Given the description of an element on the screen output the (x, y) to click on. 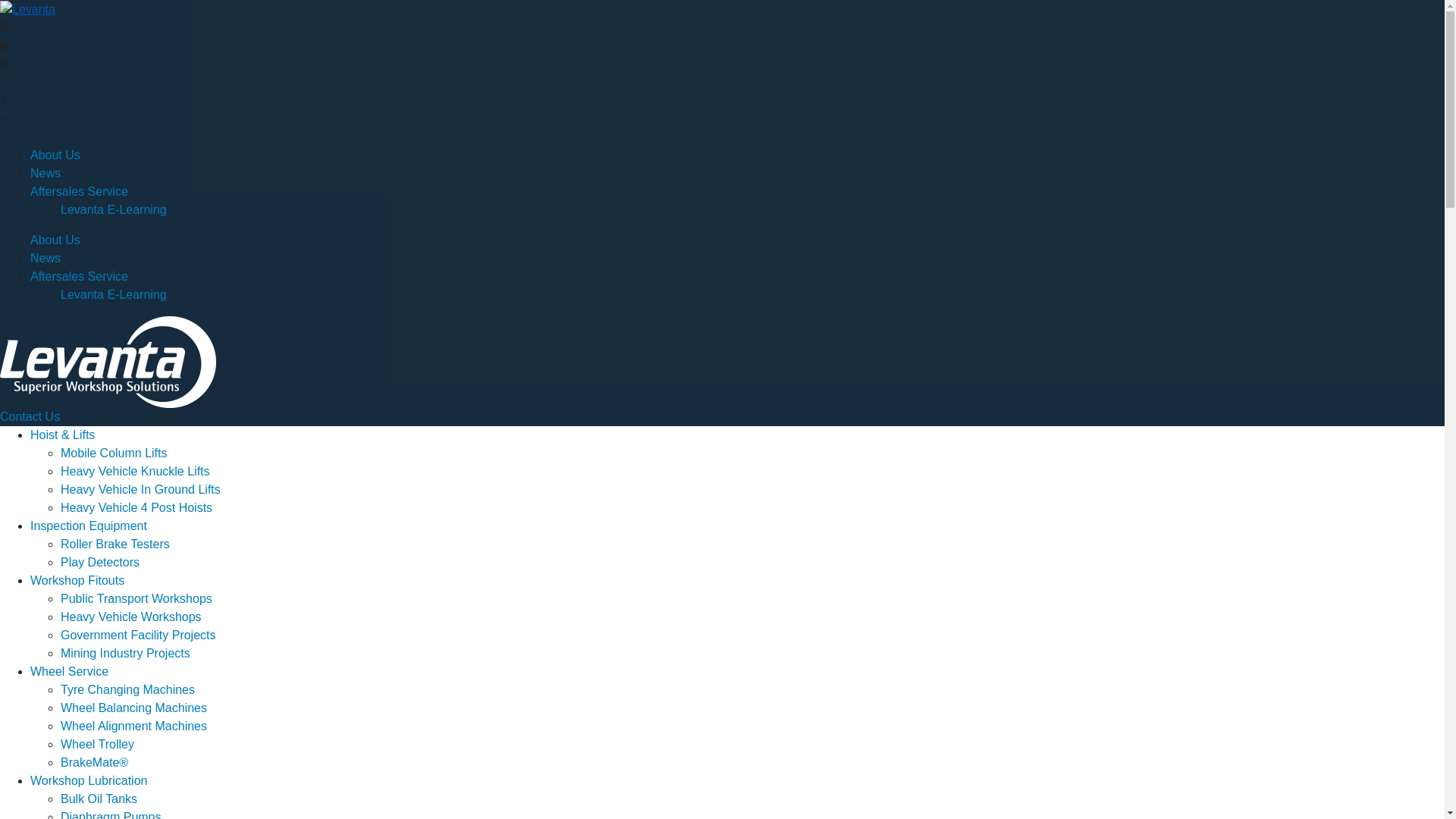
Hoist & Lifts Element type: text (62, 434)
About Us Element type: text (55, 154)
Levanta E-Learning Element type: text (113, 209)
Workshop Fitouts Element type: text (77, 580)
About Us Element type: text (55, 239)
Heavy Vehicle Knuckle Lifts Element type: text (135, 470)
Heavy Vehicle 4 Post Hoists Element type: text (136, 507)
Public Transport Workshops Element type: text (136, 598)
Aftersales Service Element type: text (79, 191)
Wheel Balancing Machines Element type: text (133, 707)
Wheel Trolley Element type: text (97, 743)
Tyre Changing Machines Element type: text (127, 689)
Mining Industry Projects Element type: text (125, 652)
Government Facility Projects Element type: text (138, 634)
Inspection Equipment Element type: text (88, 525)
Roller Brake Testers Element type: text (114, 543)
Wheel Alignment Machines Element type: text (133, 725)
Wheel Service Element type: text (69, 671)
Heavy Vehicle In Ground Lifts Element type: text (140, 489)
News Element type: text (45, 257)
Levanta E-Learning Element type: text (113, 294)
News Element type: text (45, 172)
Bulk Oil Tanks Element type: text (98, 798)
Aftersales Service Element type: text (79, 275)
Mobile Column Lifts Element type: text (113, 452)
Heavy Vehicle Workshops Element type: text (130, 616)
Workshop Lubrication Element type: text (88, 780)
Play Detectors Element type: text (99, 561)
Contact Us Element type: text (29, 416)
